Given the description of an element on the screen output the (x, y) to click on. 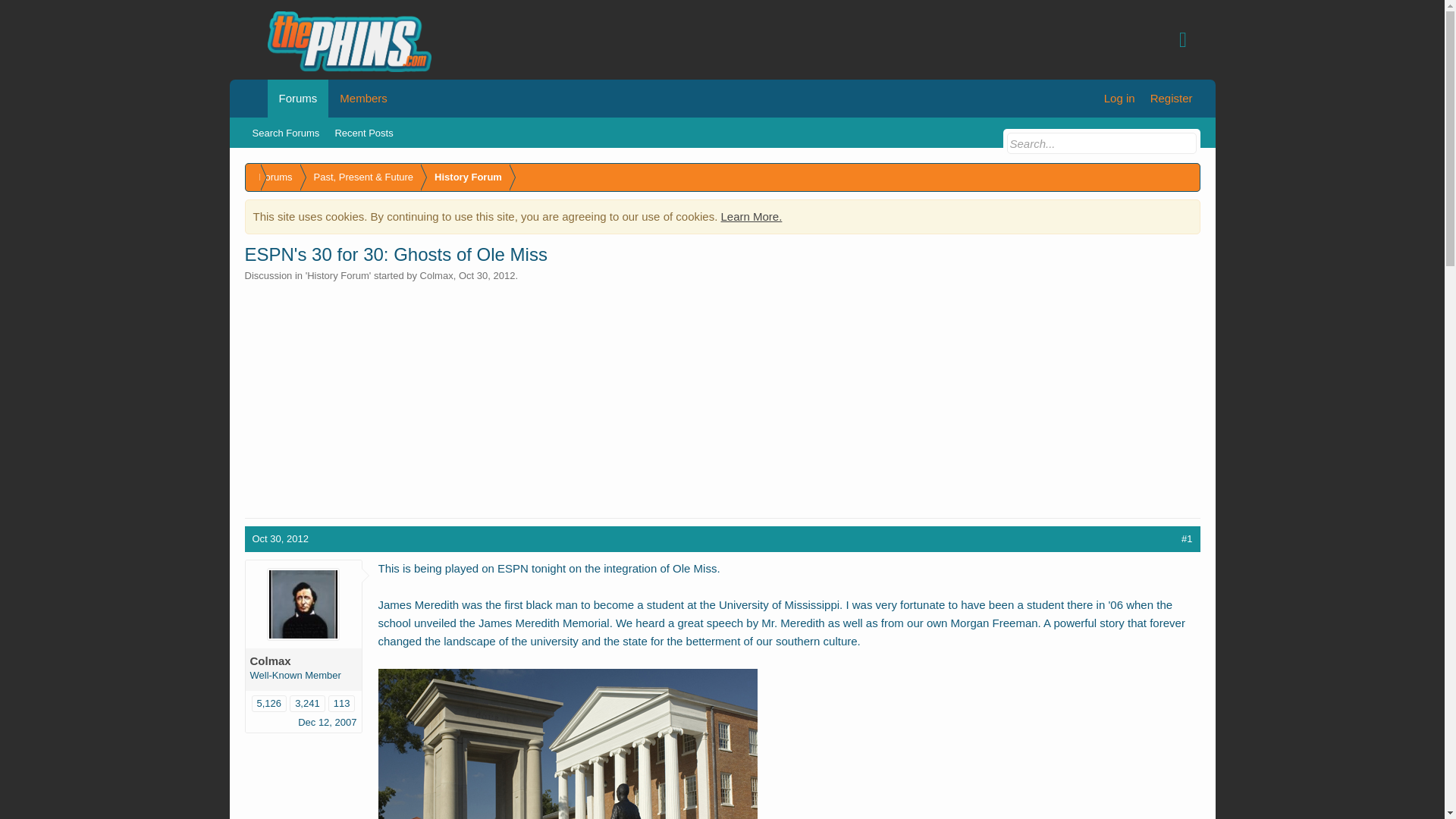
Permalink (279, 538)
113 (341, 703)
History Forum (464, 177)
Colmax (436, 275)
Learn More. (750, 215)
Register (1170, 98)
Contact Us (1209, 31)
Permalink (1186, 538)
Oct 30, 2012 (486, 275)
Search Forums (285, 133)
Log in (1119, 98)
RSS (1198, 31)
5,126 (269, 703)
